Given the description of an element on the screen output the (x, y) to click on. 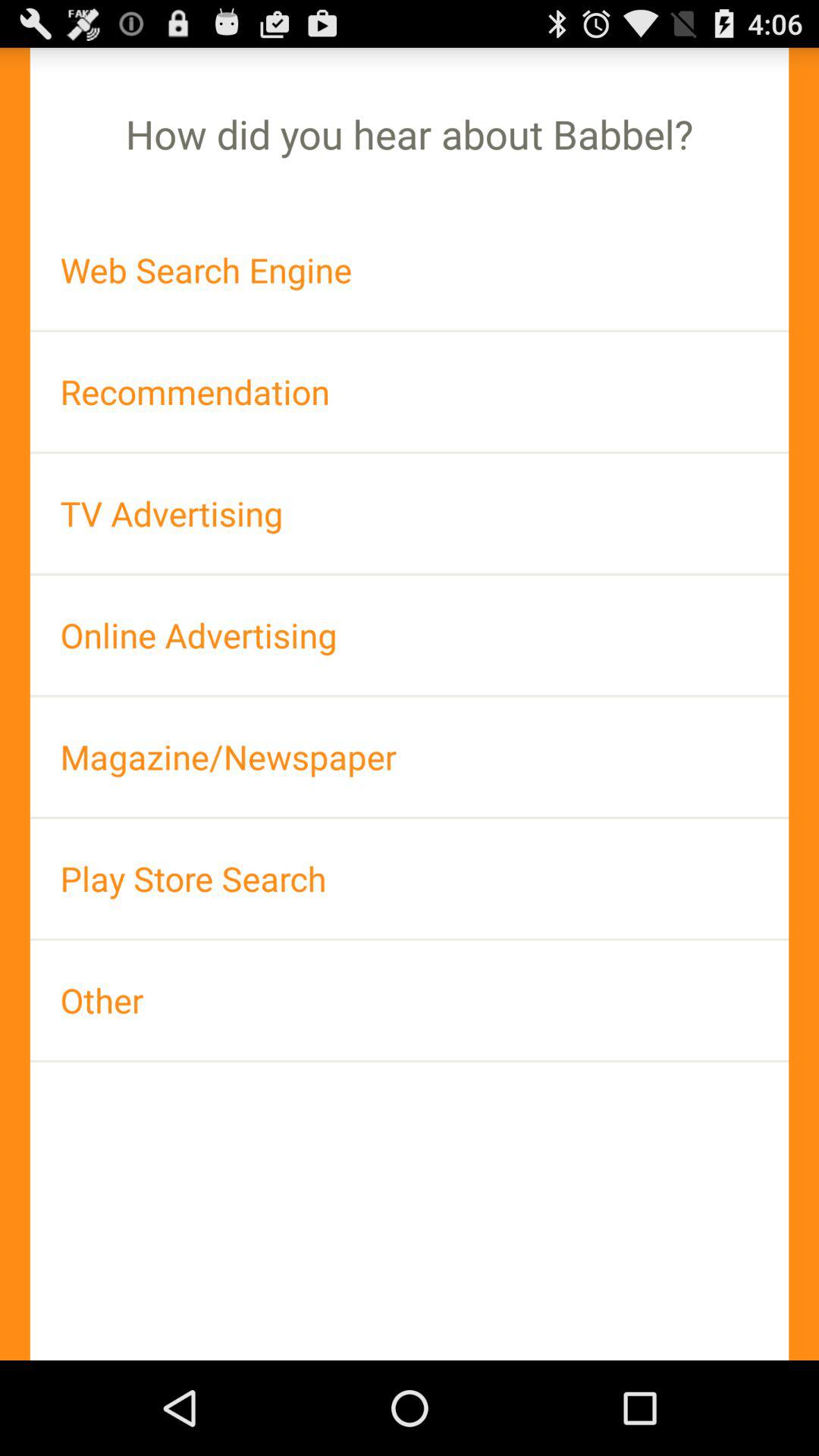
scroll to recommendation (409, 391)
